Given the description of an element on the screen output the (x, y) to click on. 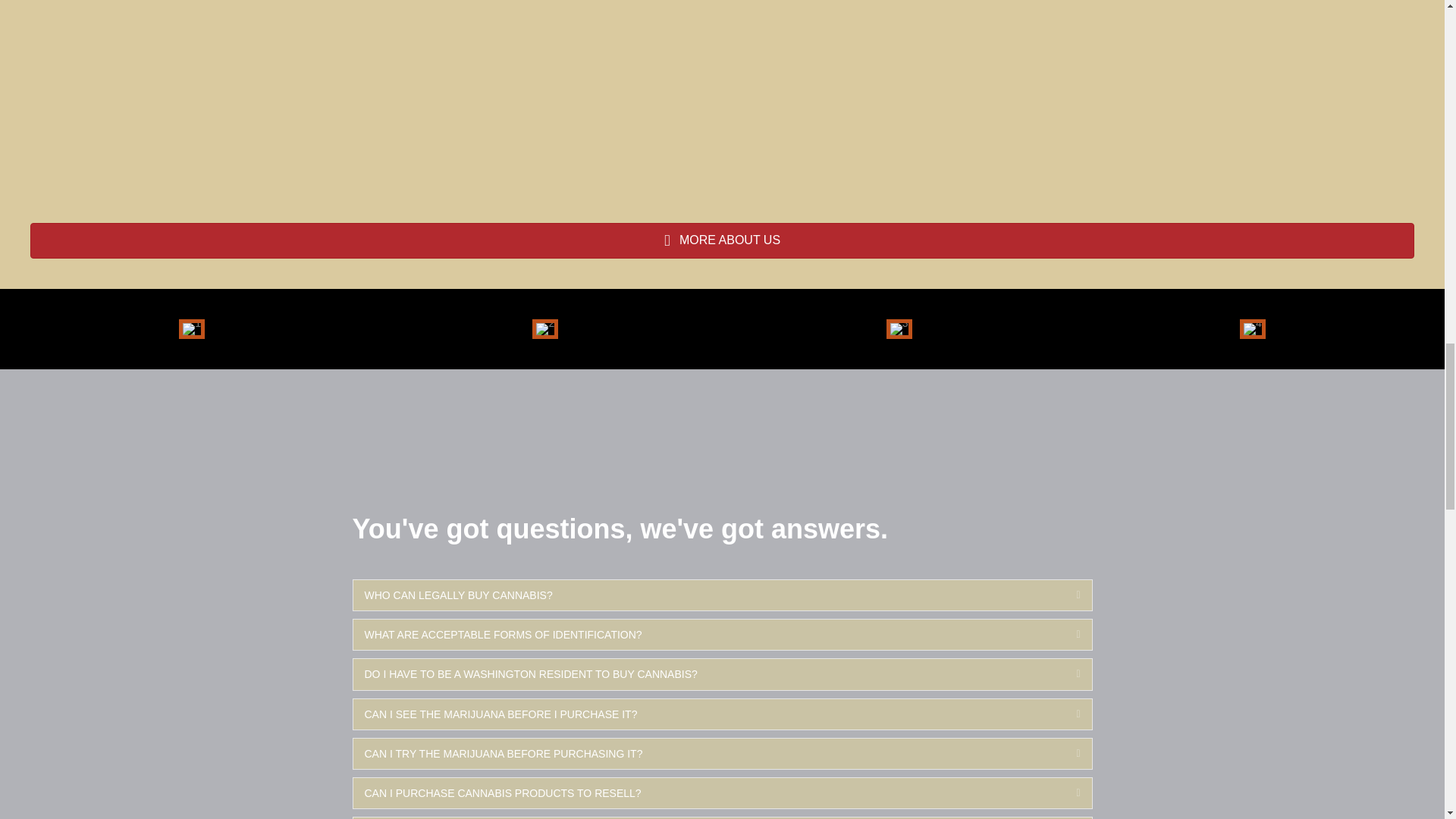
Expand (1066, 634)
CAN I PURCHASE CANNABIS PRODUCTS TO RESELL? (708, 792)
MORE ABOUT US (721, 240)
1 (192, 329)
Expand (1066, 753)
DO I HAVE TO BE A WASHINGTON RESIDENT TO BUY CANNABIS? (708, 673)
Expand (1066, 595)
WHO CAN LEGALLY BUY CANNABIS? (708, 595)
Expand (1066, 792)
Expand (1066, 673)
CAN I TRY THE MARIJUANA BEFORE PURCHASING IT? (708, 753)
Expand (1066, 713)
CAN I SEE THE MARIJUANA BEFORE I PURCHASE IT? (708, 713)
4 (1252, 329)
WHAT ARE ACCEPTABLE FORMS OF IDENTIFICATION? (708, 634)
